Given the description of an element on the screen output the (x, y) to click on. 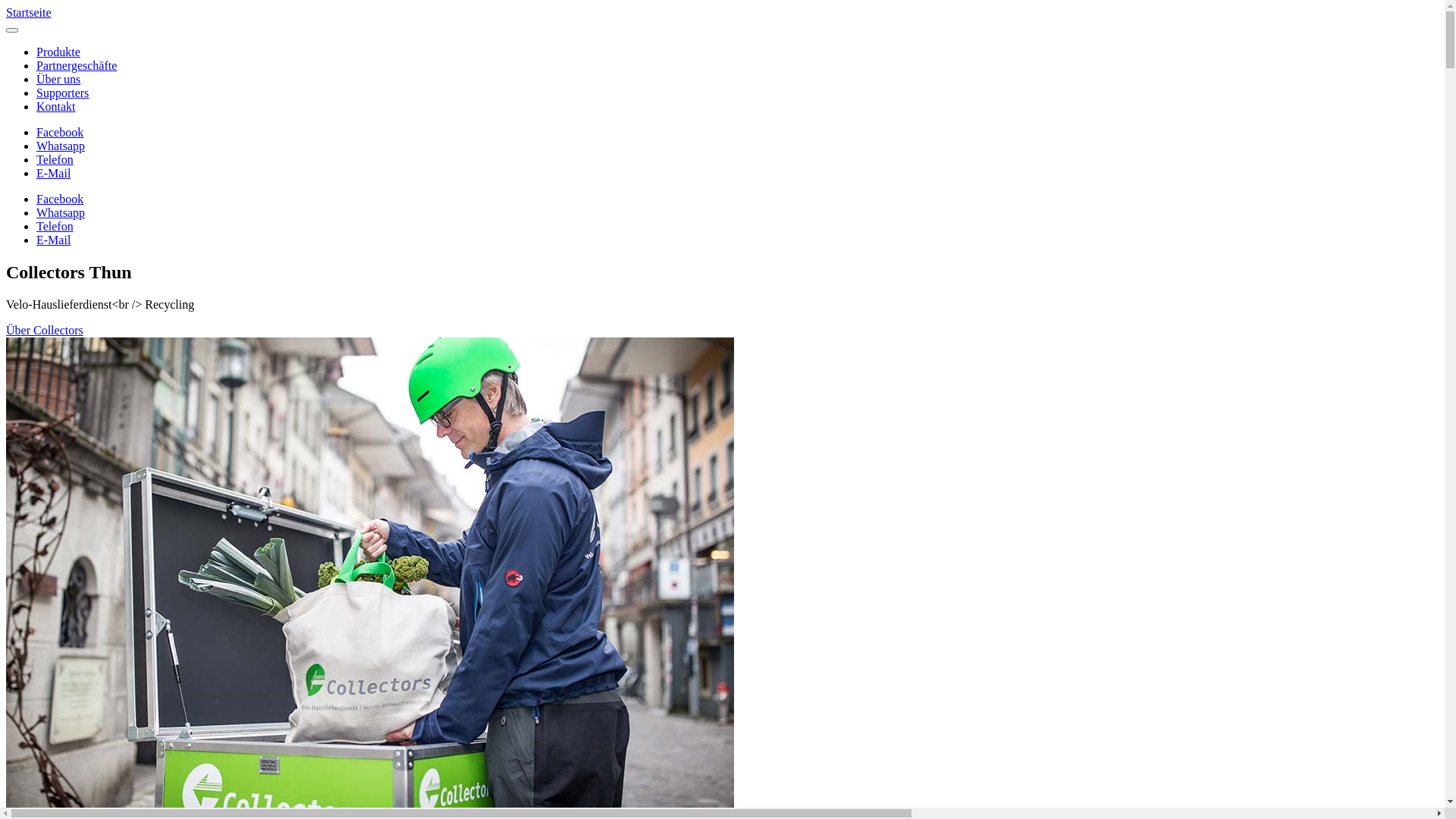
E-Mail Element type: text (737, 173)
Startseite Element type: text (28, 12)
Telefon Element type: text (737, 226)
Supporters Element type: text (62, 92)
Facebook Element type: text (737, 199)
Facebook Element type: text (737, 132)
E-Mail Element type: text (737, 240)
Produkte Element type: text (58, 51)
Telefon Element type: text (737, 159)
Whatsapp Element type: text (737, 212)
Kontakt Element type: text (55, 106)
Whatsapp Element type: text (737, 146)
